Given the description of an element on the screen output the (x, y) to click on. 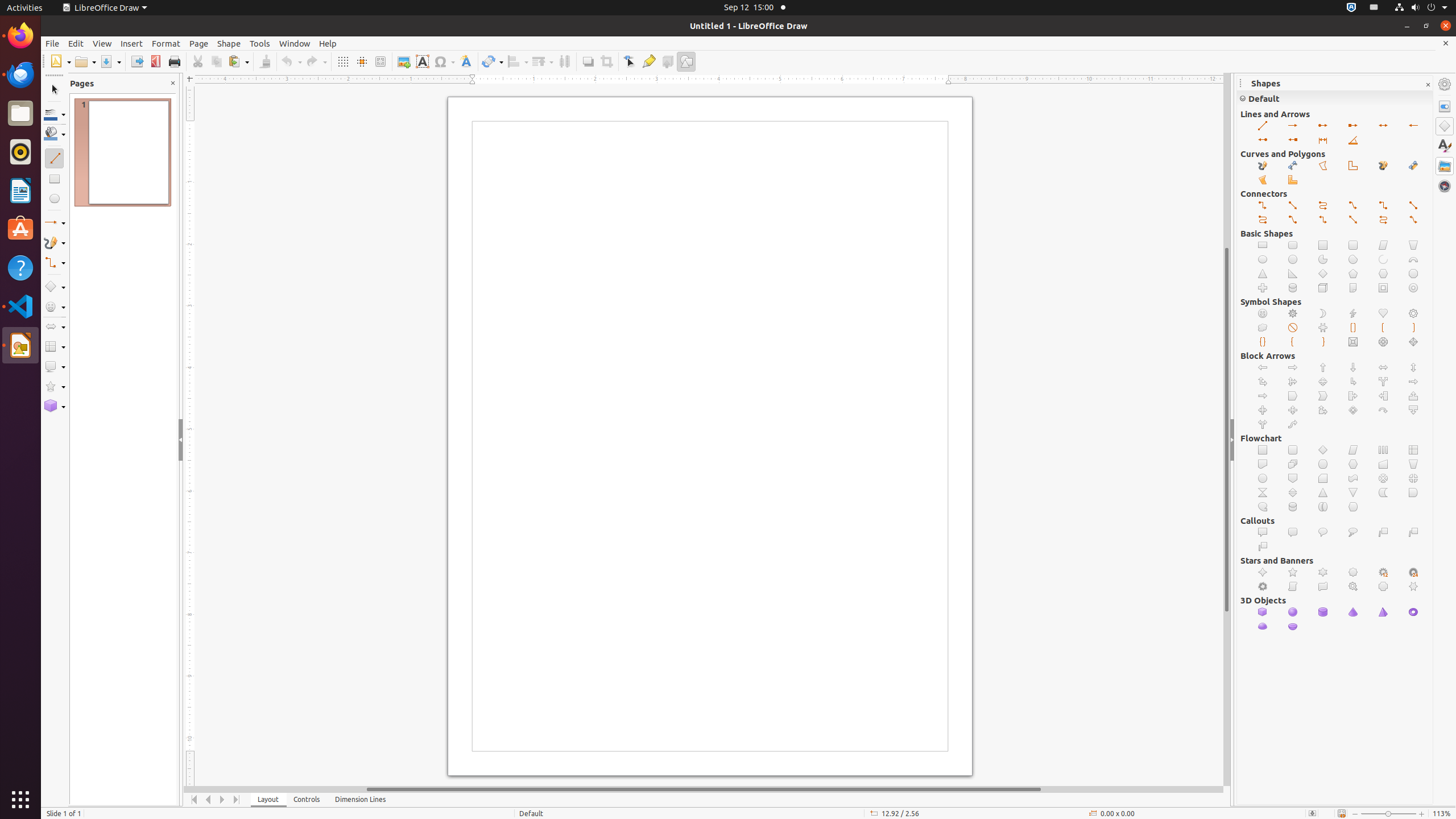
Cut Element type: push-button (197, 61)
Square, Rounded Element type: list-item (1353, 245)
Shell Element type: list-item (1262, 626)
Up and Down Arrow Element type: list-item (1413, 367)
6-Point Star, Concave Element type: list-item (1413, 586)
